Given the description of an element on the screen output the (x, y) to click on. 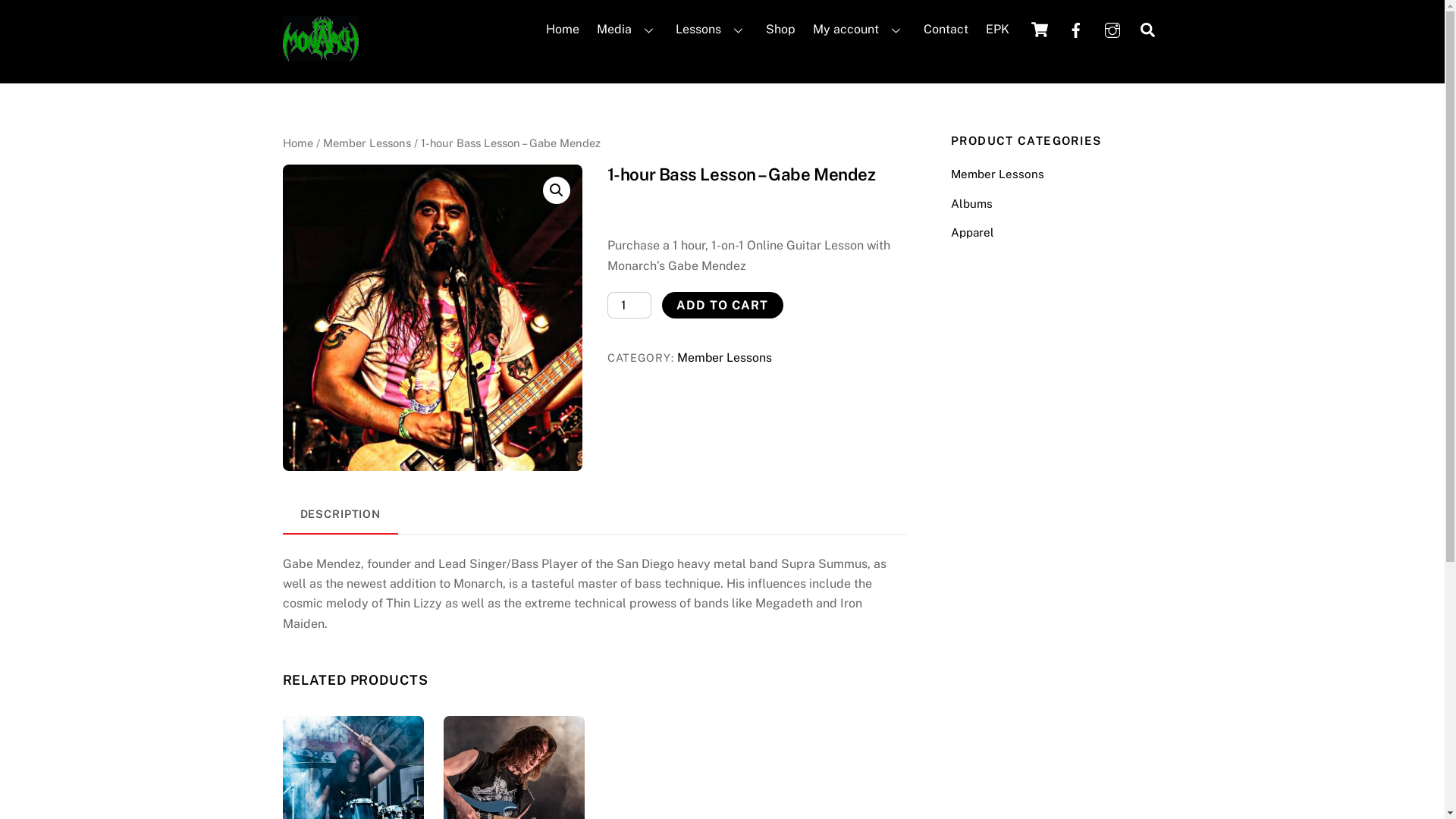
Search Element type: text (1147, 28)
Home Element type: text (562, 29)
Member Lessons Element type: text (724, 357)
Contact Element type: text (945, 29)
My account Element type: text (859, 29)
Albums Element type: text (971, 203)
MONARCH Element type: hover (319, 53)
Home Element type: text (297, 142)
Lessons Element type: text (712, 29)
IMG_2963 2-2 Element type: hover (431, 317)
Media Element type: text (627, 29)
EPK Element type: text (997, 29)
Cart Element type: text (1038, 29)
Apparel Element type: text (972, 231)
ADD TO CART Element type: text (722, 304)
DESCRIPTION Element type: text (340, 513)
Shop Element type: text (780, 29)
D72E8039-2512-4480-9AF3-828208FF42BF Element type: hover (319, 38)
Member Lessons Element type: text (367, 142)
Member Lessons Element type: text (997, 173)
